Given the description of an element on the screen output the (x, y) to click on. 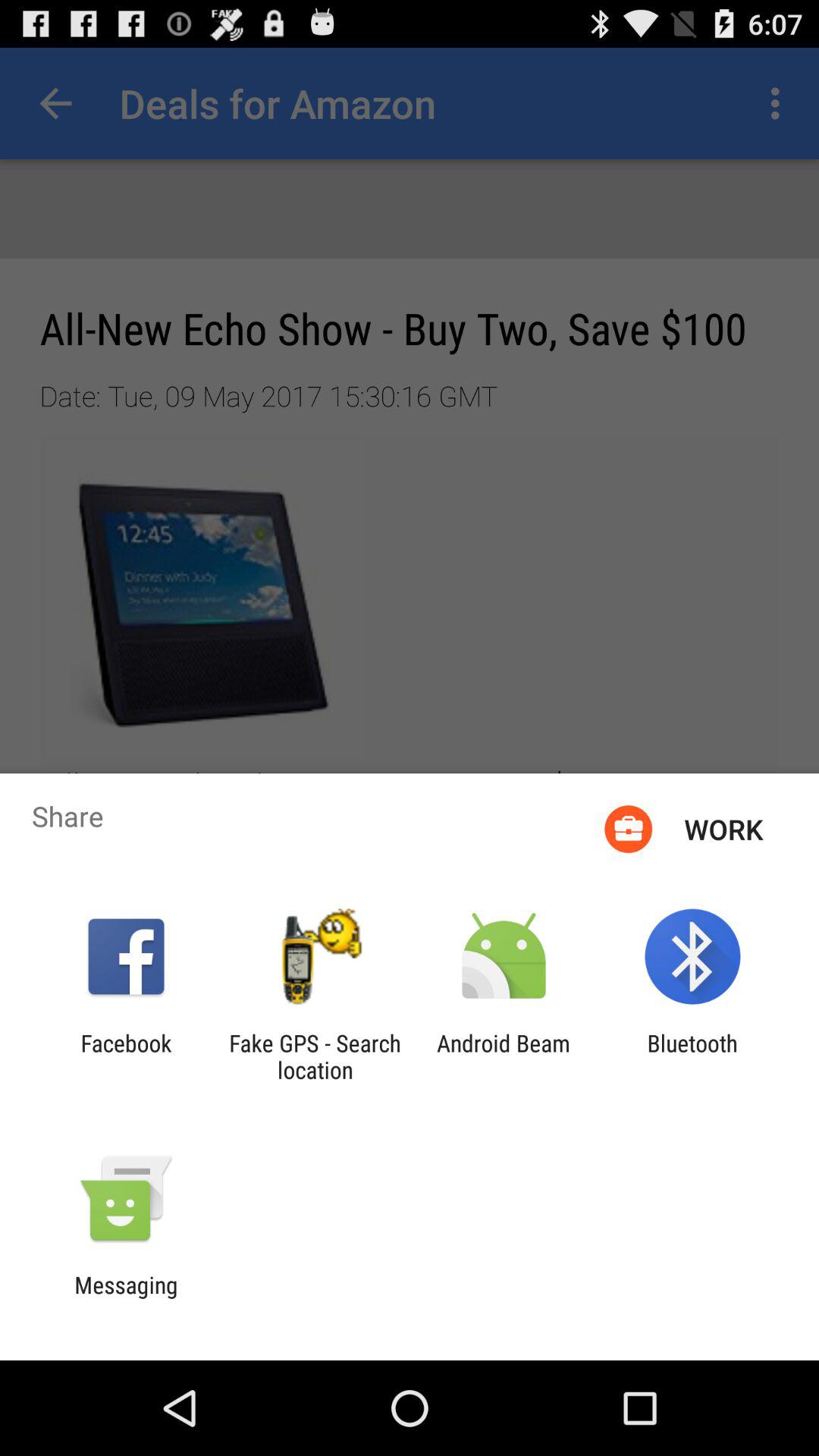
select the app next to fake gps search item (503, 1056)
